Given the description of an element on the screen output the (x, y) to click on. 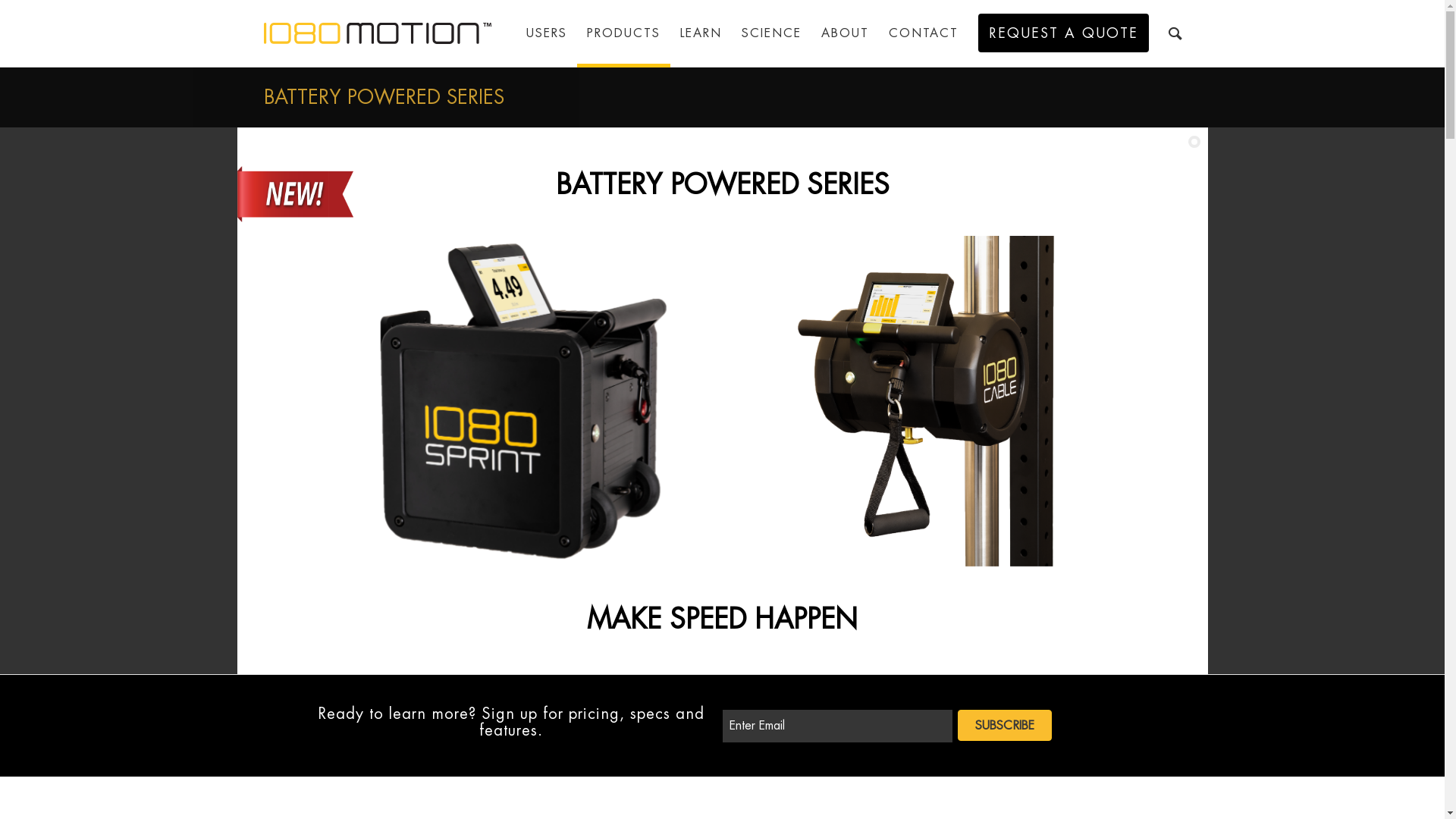
CONTACT Element type: text (922, 33)
Subscribe Element type: text (1004, 724)
ABOUT Element type: text (844, 33)
LEARN Element type: text (700, 33)
PRODUCTS Element type: text (622, 33)
SCIENCE Element type: text (770, 33)
REQUEST A QUOTE Element type: text (1062, 33)
USERS Element type: text (545, 33)
